Given the description of an element on the screen output the (x, y) to click on. 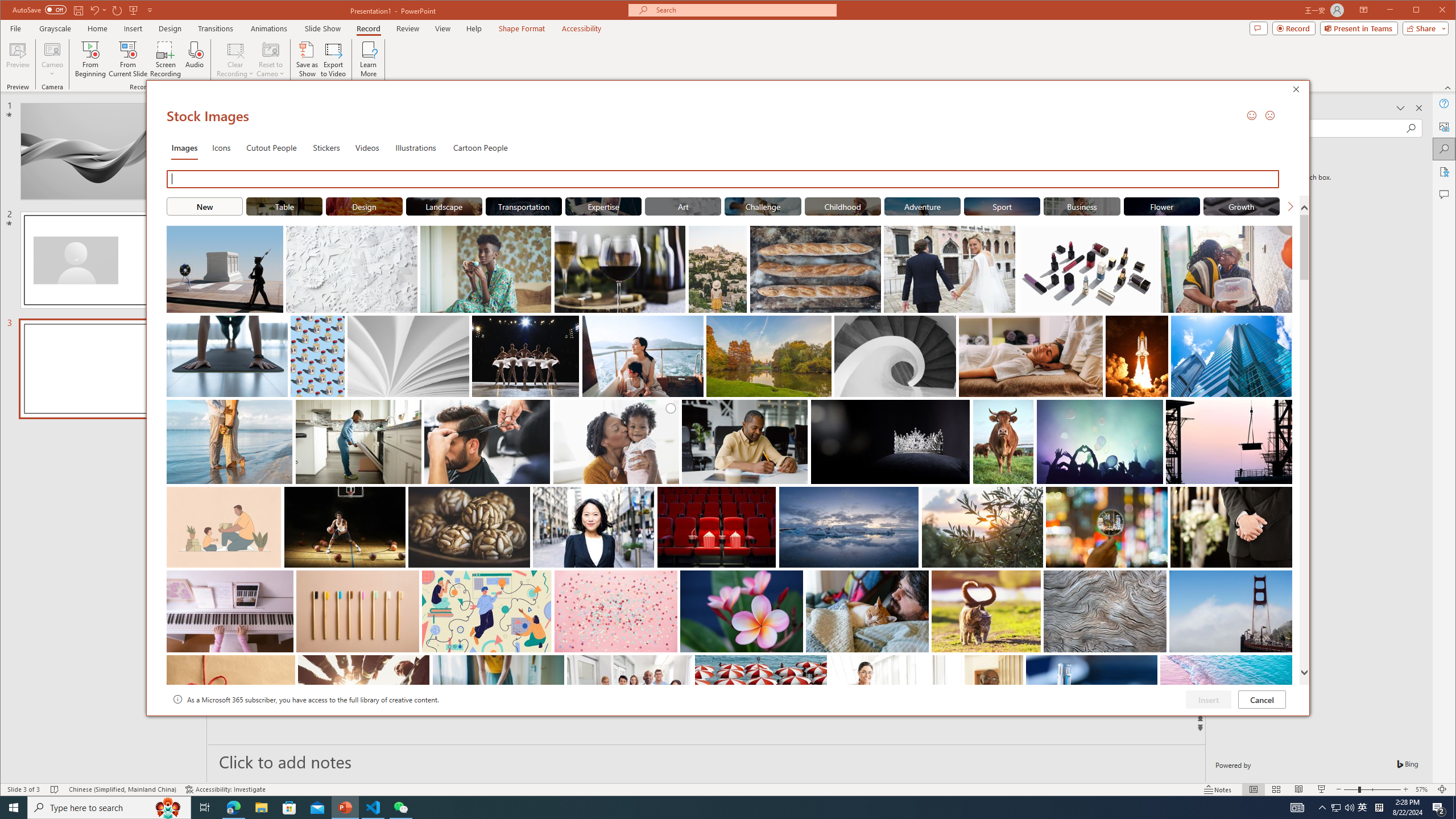
"Table" Stock Images. (283, 206)
Cancel (1261, 699)
Audio (194, 59)
"Landscape" Stock Images. (443, 206)
